Given the description of an element on the screen output the (x, y) to click on. 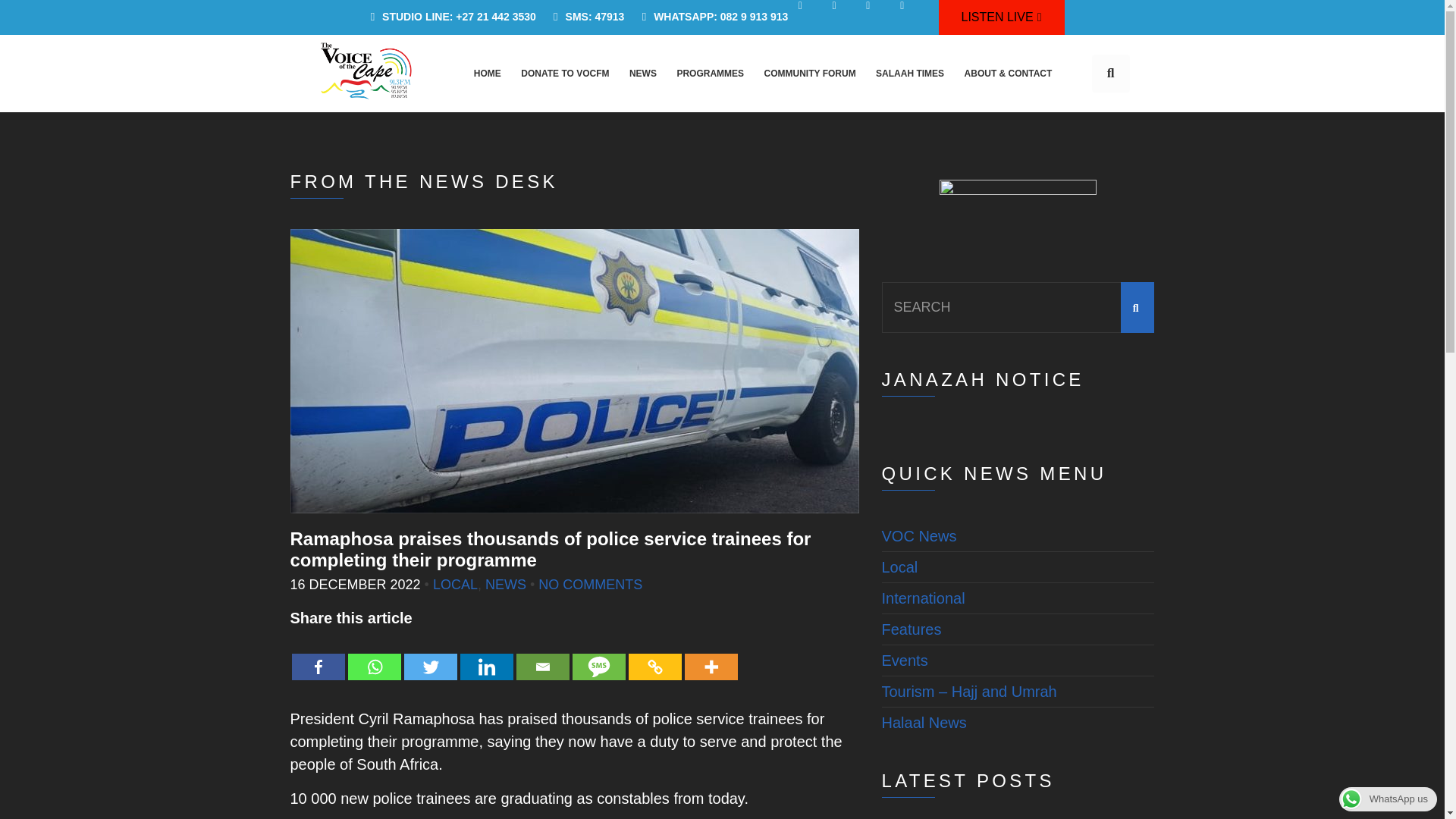
Facebook (317, 655)
HOME (486, 73)
PROGRAMMES (709, 73)
SMS (598, 655)
Copy Link (654, 655)
SALAAH TIMES (909, 73)
Email (542, 655)
Linkedin (486, 655)
COMMUNITY FORUM (809, 73)
NEWS (642, 73)
